Given the description of an element on the screen output the (x, y) to click on. 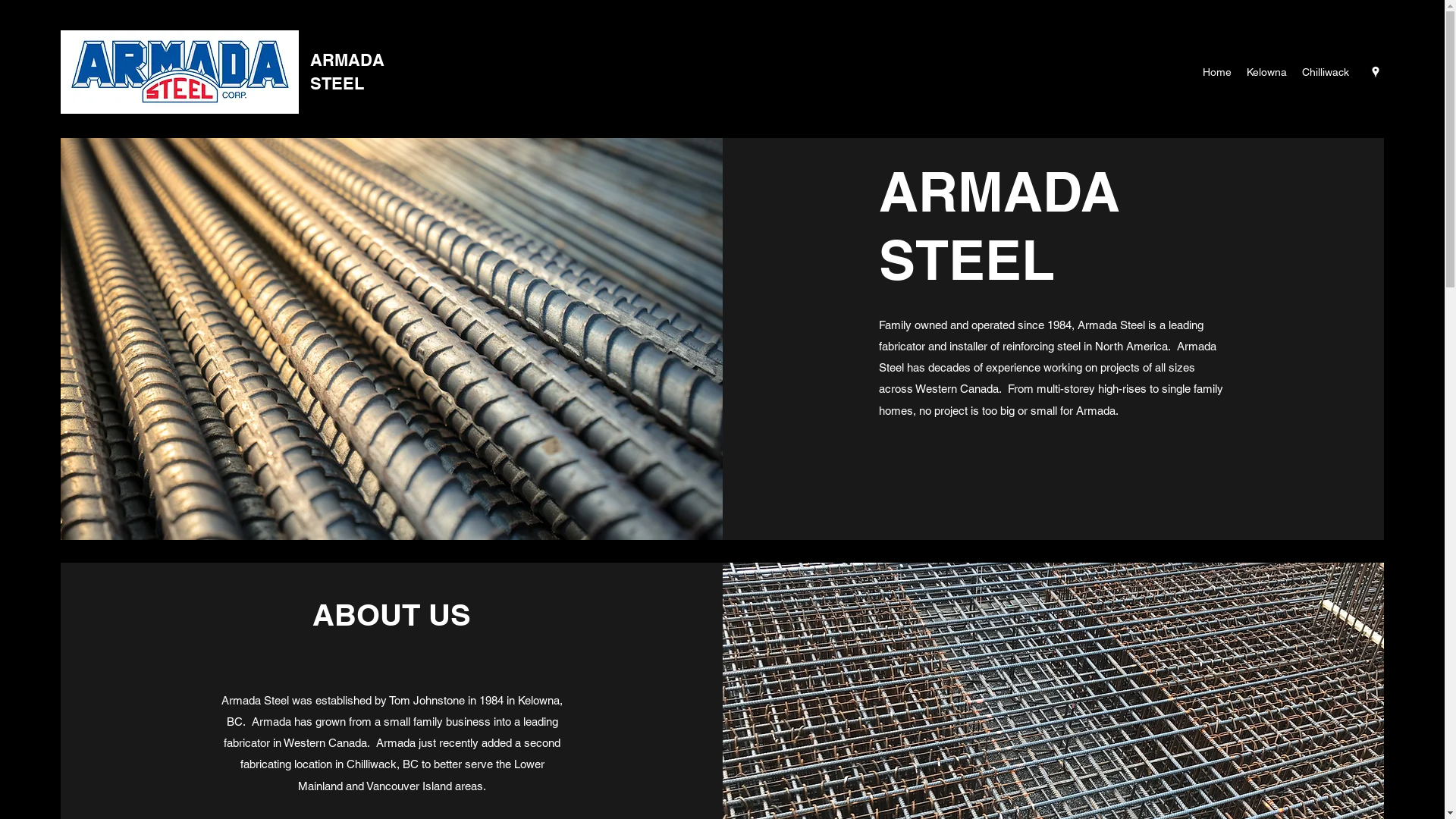
Home Element type: text (1217, 71)
Kelowna Element type: text (1266, 71)
ARMADA STEEL Element type: text (347, 71)
Chilliwack Element type: text (1325, 71)
